Given the description of an element on the screen output the (x, y) to click on. 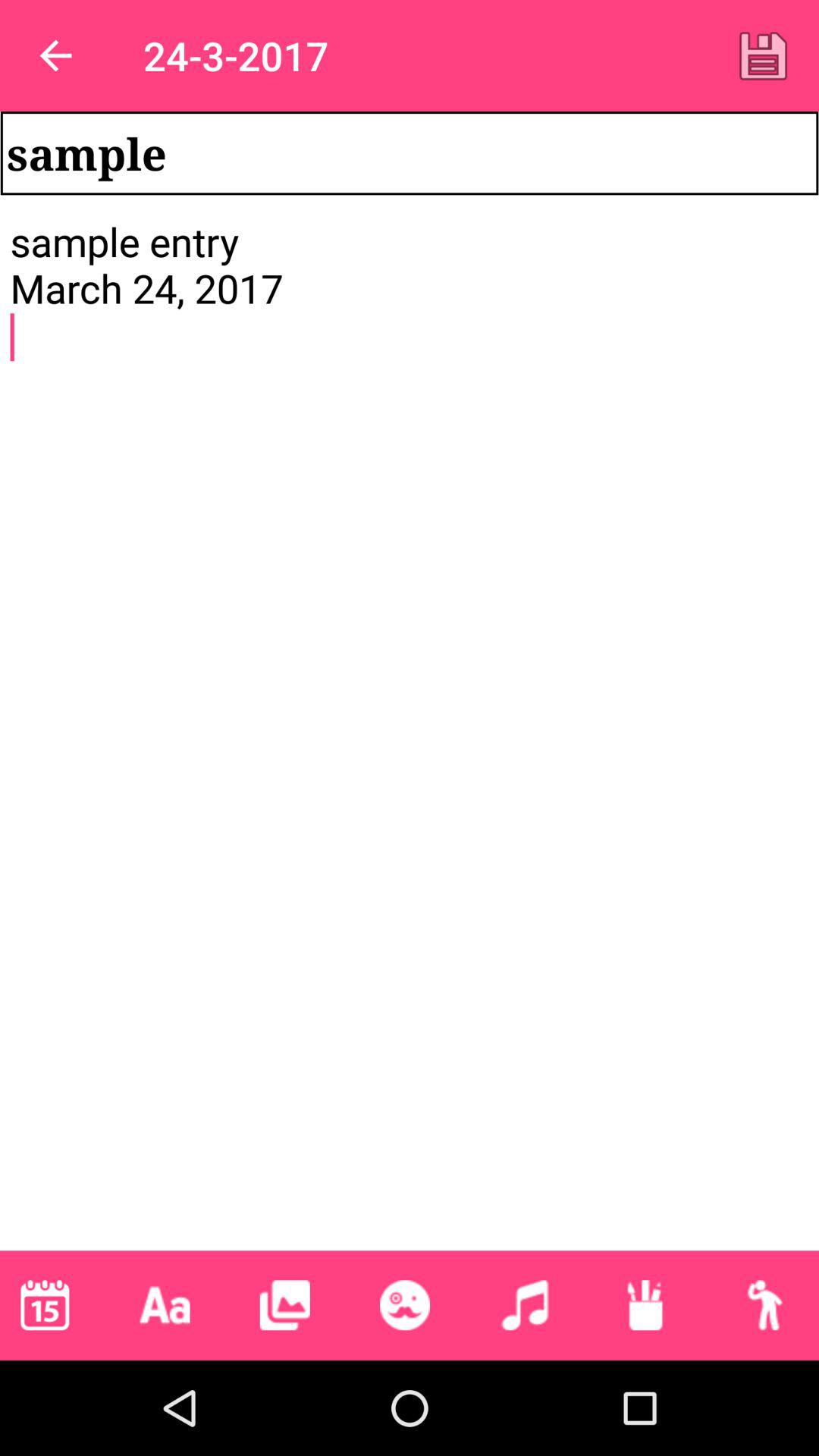
tap the icon below the sample entry march item (164, 1305)
